Given the description of an element on the screen output the (x, y) to click on. 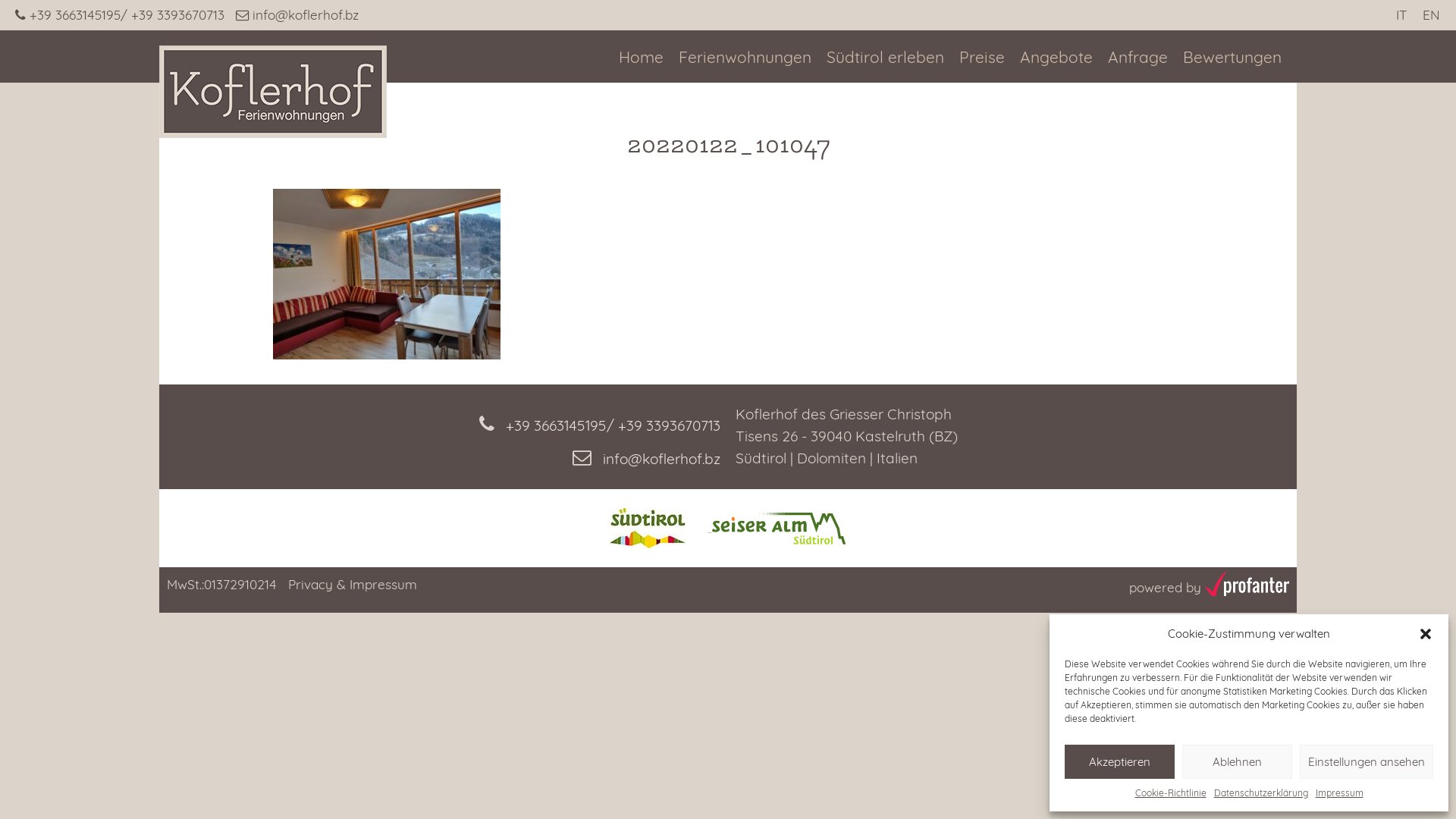
Anfrage Element type: text (1137, 57)
Akzeptieren Element type: text (1119, 761)
Ferienwohnungen Element type: text (744, 57)
Bewertungen Element type: text (1232, 57)
Preise Element type: text (981, 57)
+39 3663145195/ +39 3393670713 Element type: text (439, 419)
info@koflerhof.bz Element type: text (439, 453)
+39 3663145195/ +39 3393670713 Element type: text (125, 14)
Home Element type: text (640, 57)
EN Element type: text (1431, 15)
Privacy & Impressum Element type: text (352, 584)
info@koflerhof.bz Element type: text (296, 14)
Cookie-Richtlinie Element type: text (1169, 793)
Einstellungen ansehen Element type: text (1366, 761)
Ablehnen Element type: text (1237, 761)
Angebote Element type: text (1055, 57)
Impressum Element type: text (1338, 793)
IT Element type: text (1400, 15)
